Given the description of an element on the screen output the (x, y) to click on. 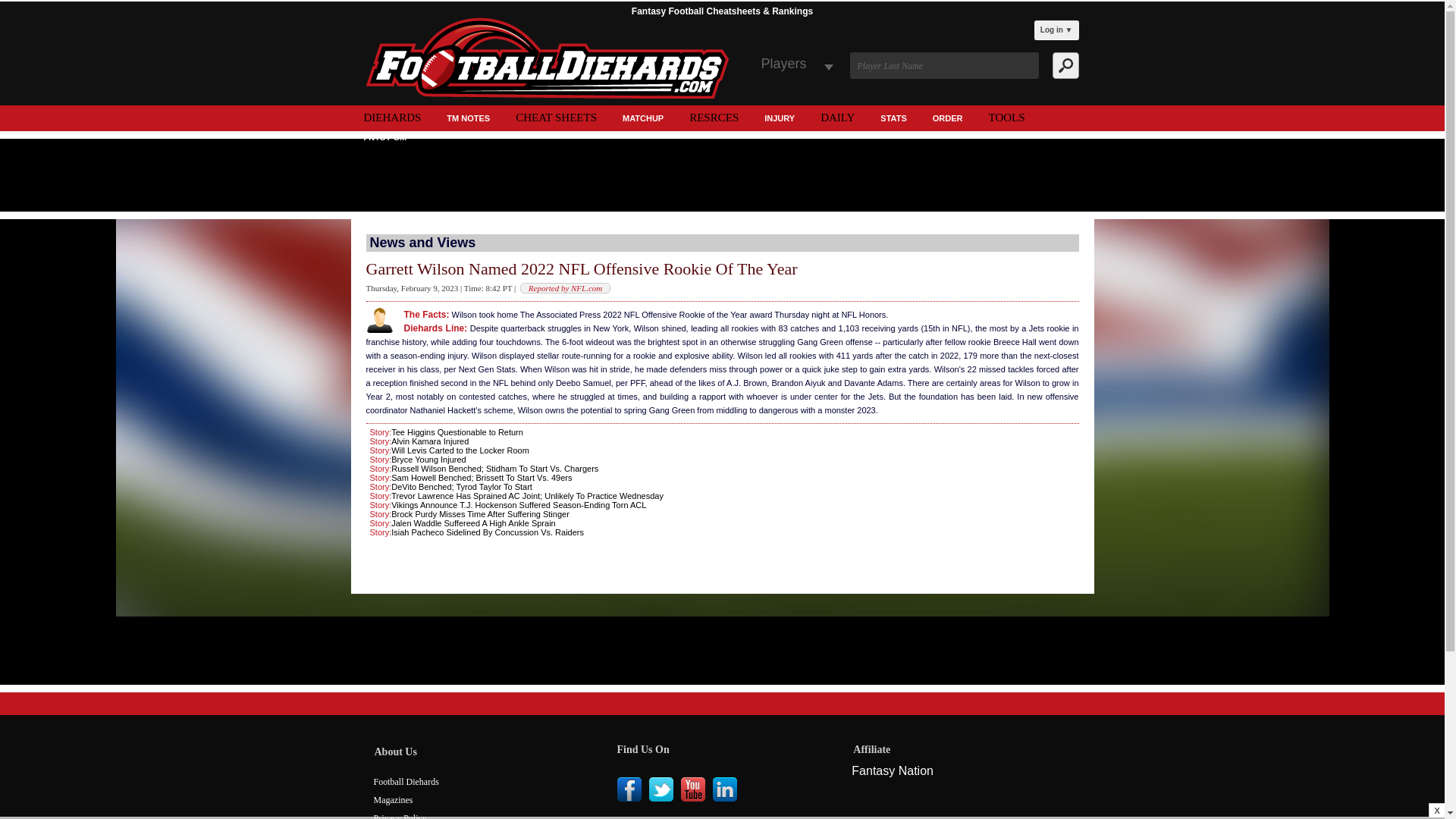
Diehards (392, 117)
RESRCES (713, 117)
Tm Notes (467, 119)
TM NOTES (467, 119)
MATCHUP (643, 119)
Matchup (643, 119)
Resrces (713, 117)
CHEAT SHEETS (555, 117)
DIEHARDS (392, 117)
Cheat Sheets (555, 117)
